Given the description of an element on the screen output the (x, y) to click on. 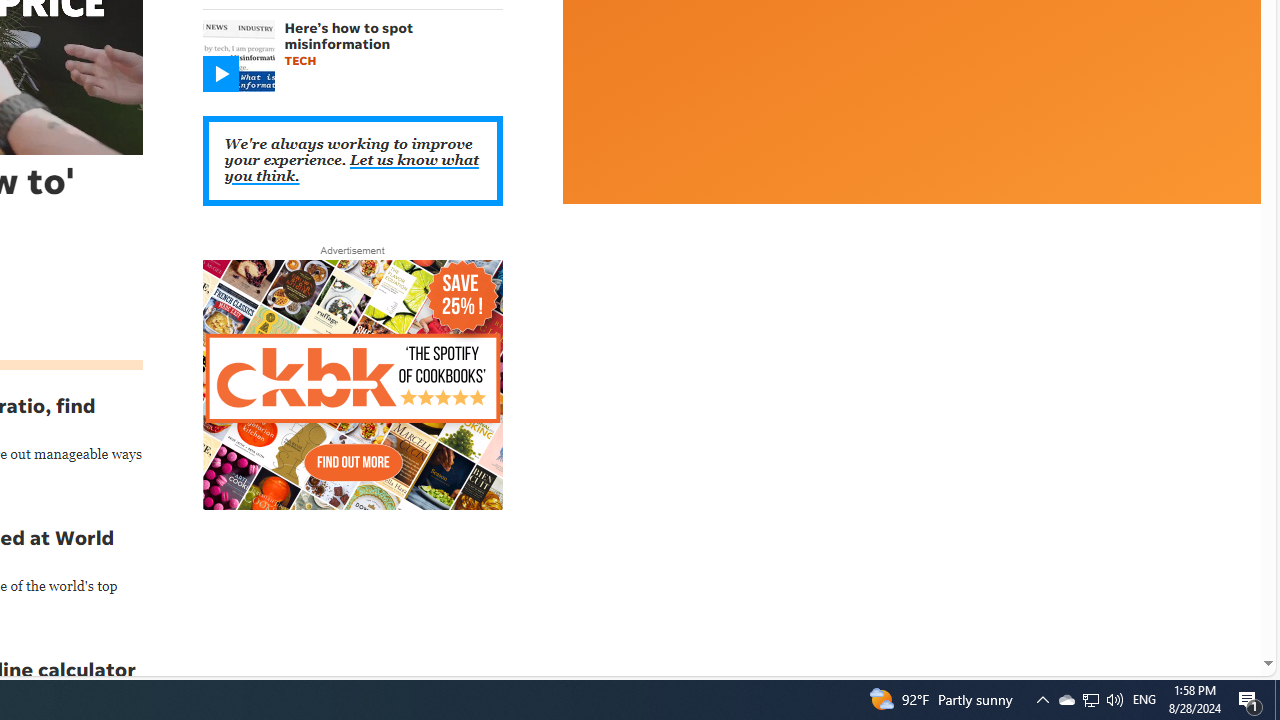
AutomationID: aw0 (352, 385)
Class: gnt_rc_svg (220, 74)
